Given the description of an element on the screen output the (x, y) to click on. 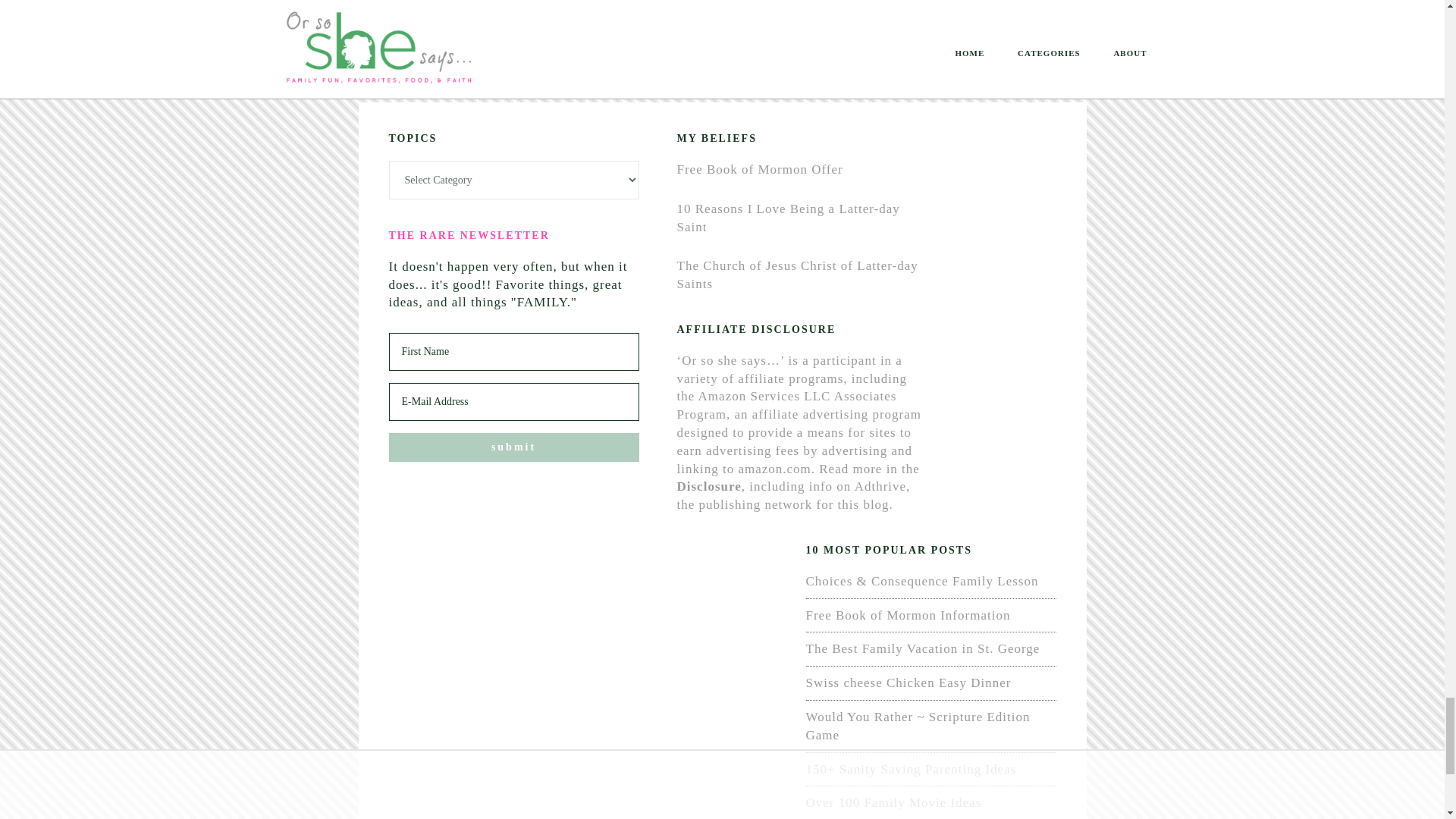
Submit (513, 447)
